Given the description of an element on the screen output the (x, y) to click on. 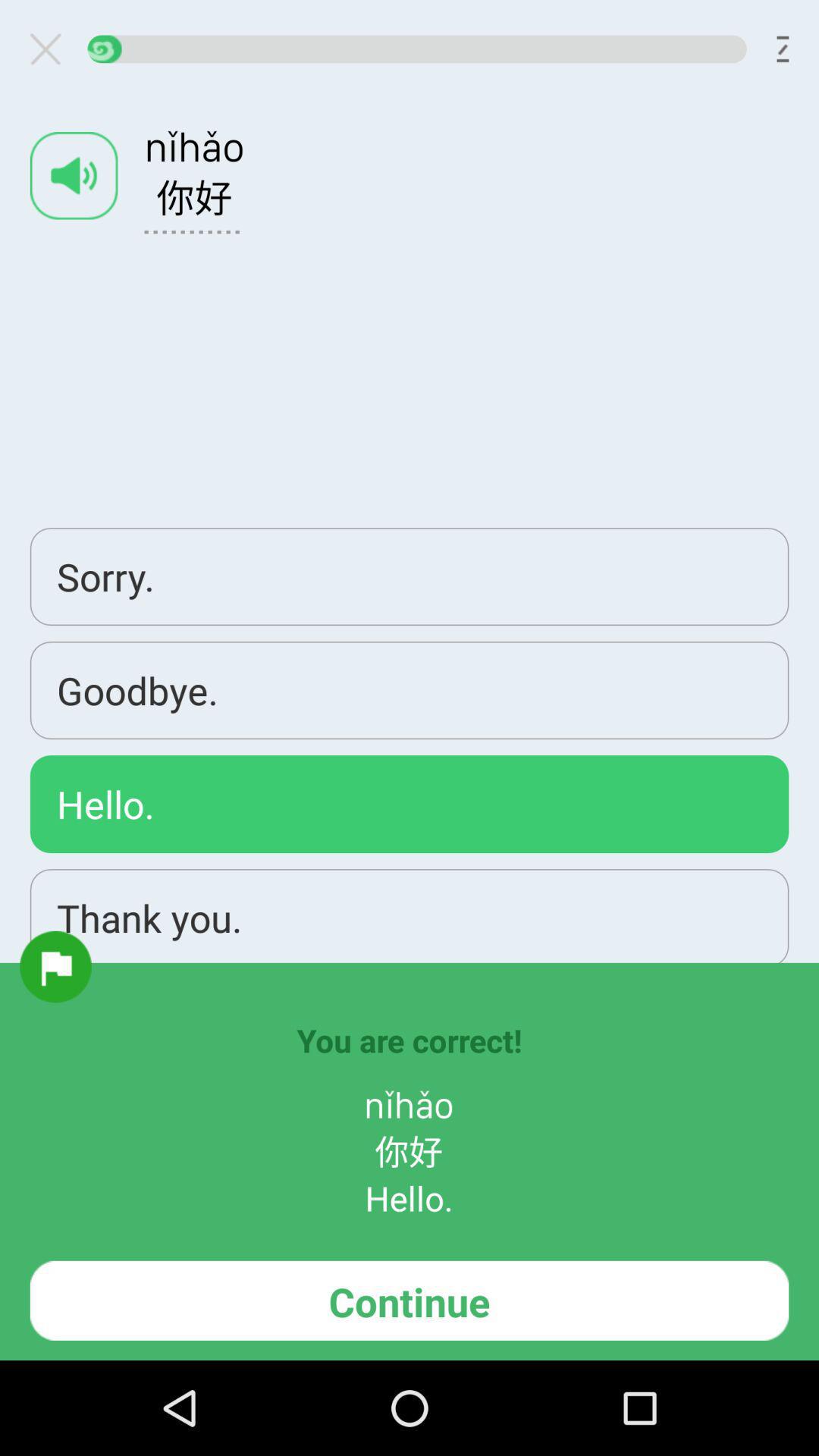
turn on app above the sorry. (73, 175)
